Given the description of an element on the screen output the (x, y) to click on. 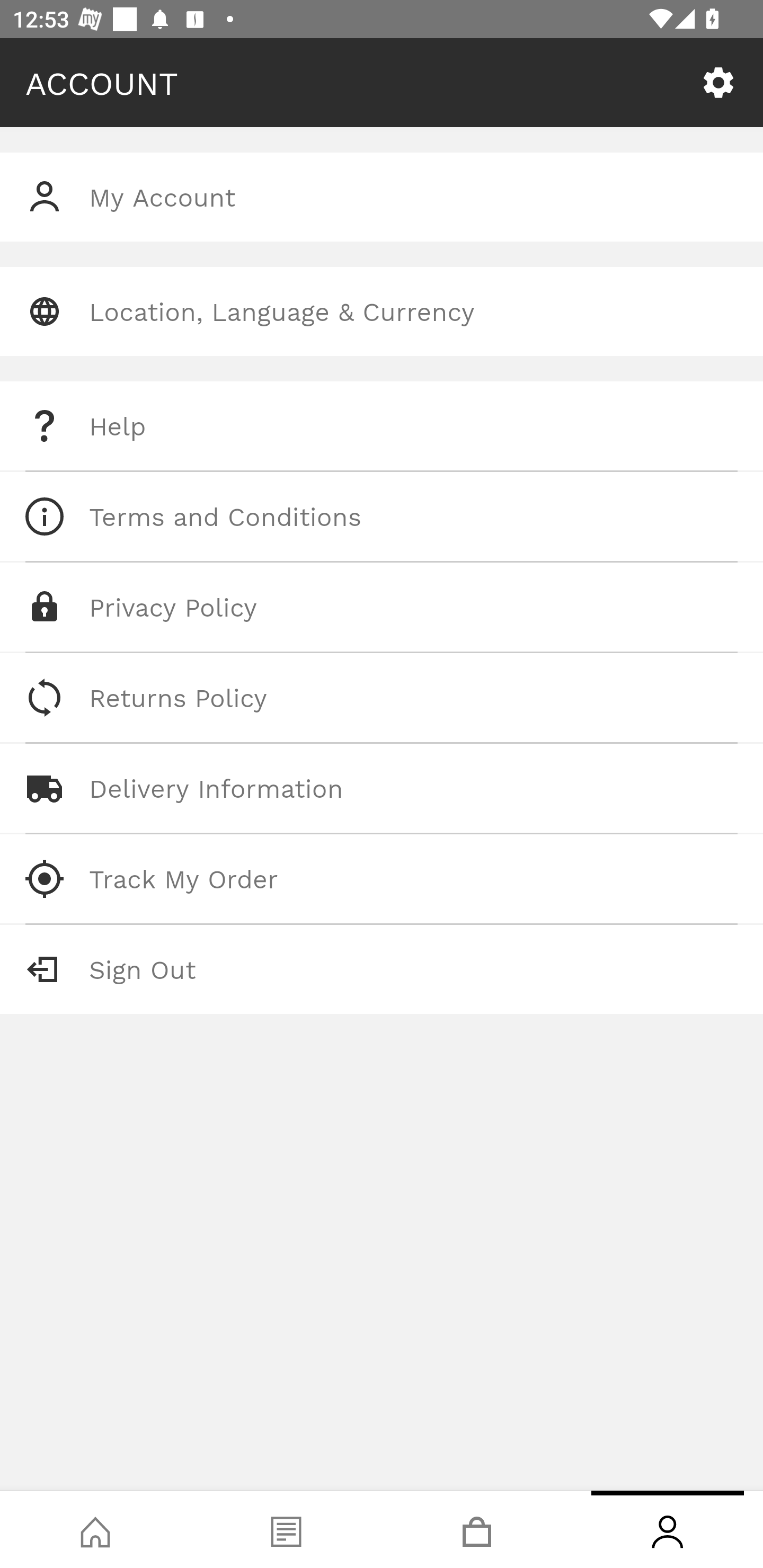
SETTINGS (718, 82)
My Account (381, 196)
Location, Language & Currency (381, 310)
Help (381, 425)
Terms and Conditions (381, 516)
Privacy Policy (381, 607)
Returns Policy (381, 697)
Delivery Information (381, 787)
Track My Order (381, 878)
Sign Out (381, 969)
Shop, tab, 1 of 4 (95, 1529)
Blog, tab, 2 of 4 (285, 1529)
Basket, tab, 3 of 4 (476, 1529)
Account, tab, 4 of 4 (667, 1529)
